Given the description of an element on the screen output the (x, y) to click on. 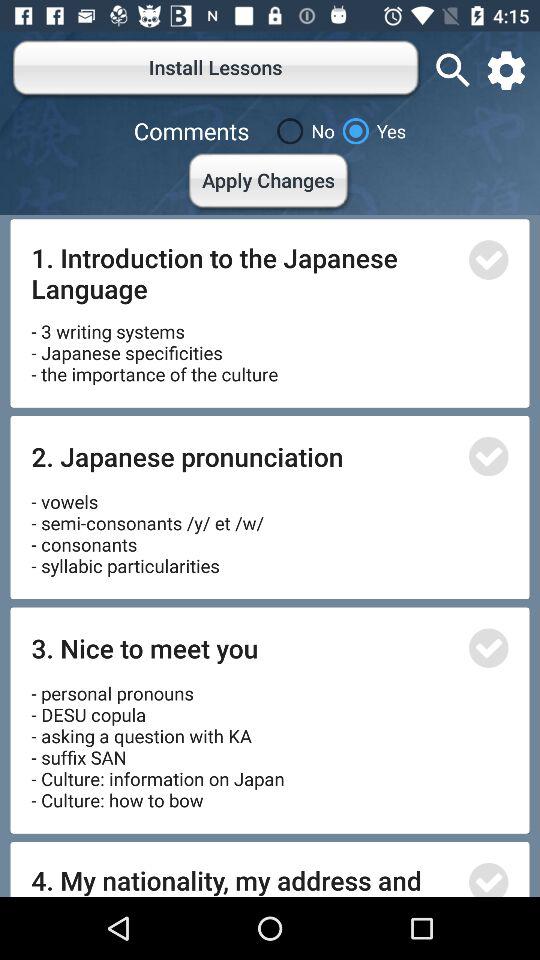
open the item below the no (269, 183)
